Given the description of an element on the screen output the (x, y) to click on. 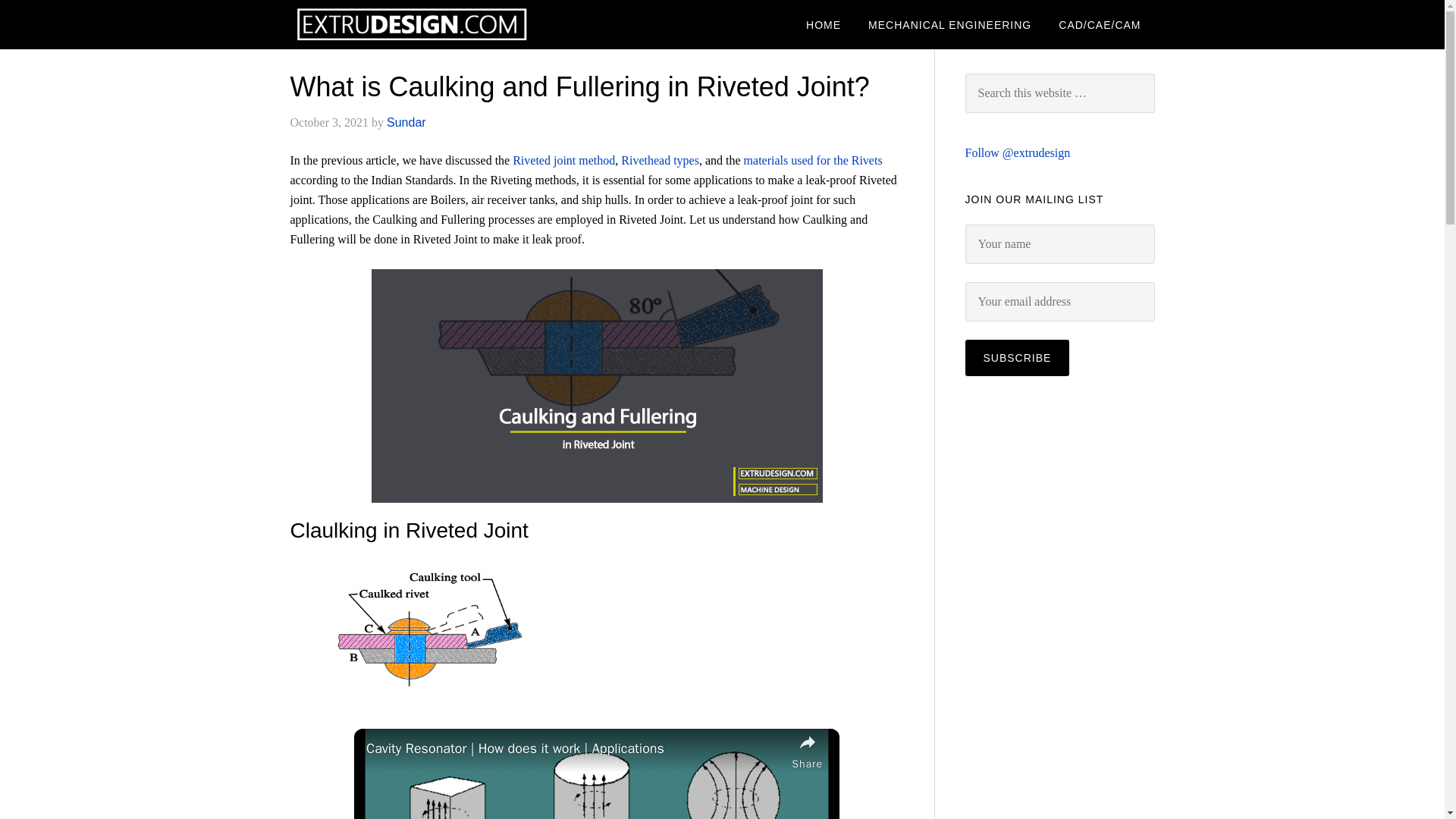
MECHANICAL ENGINEERING (949, 24)
HOME (823, 24)
EXTRUDESIGN (410, 24)
Riveted joint method (563, 160)
Sundar (406, 122)
Rivethead types (659, 160)
Subscribe (1015, 357)
